Given the description of an element on the screen output the (x, y) to click on. 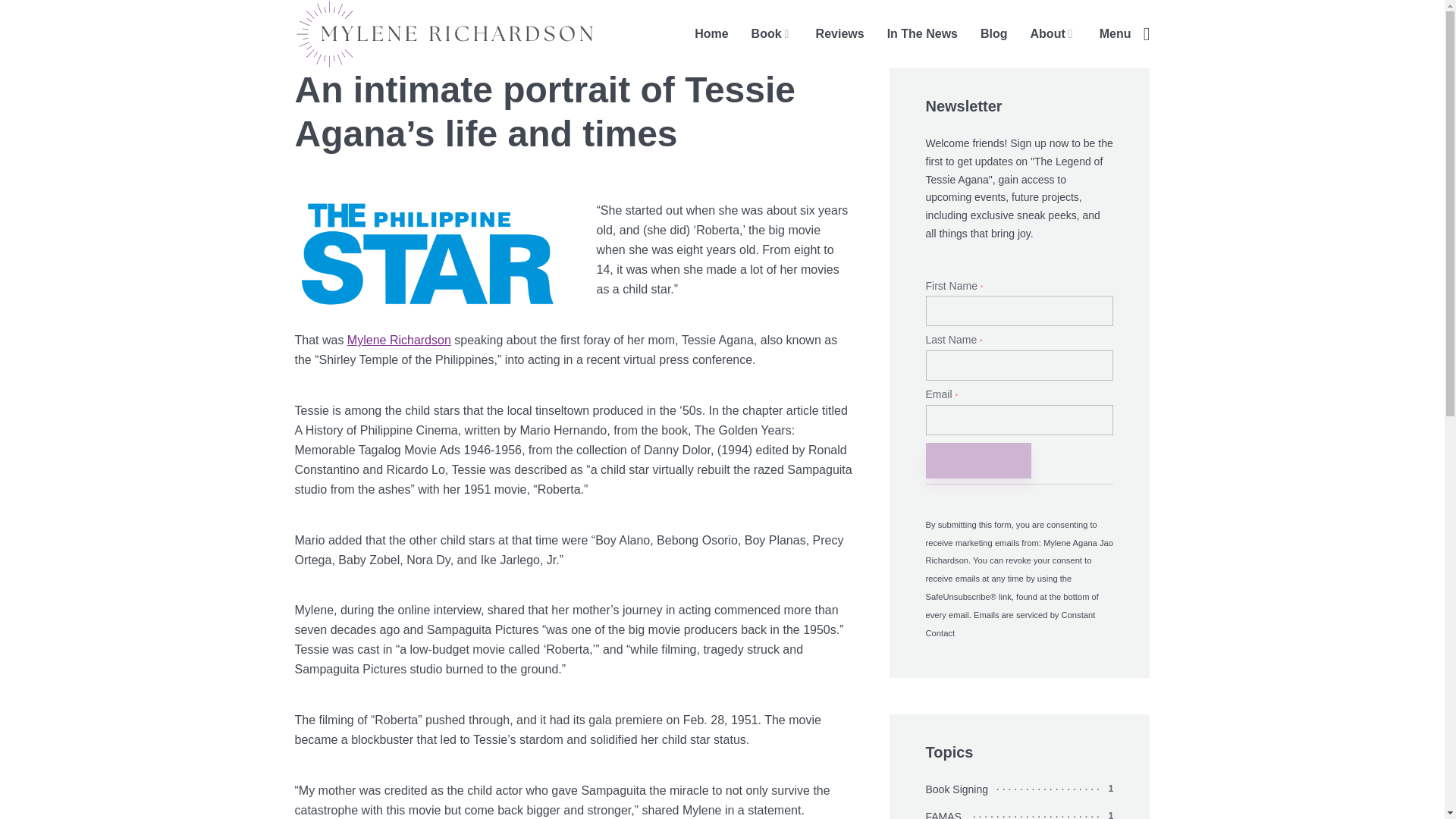
Subscribe (977, 460)
Reviews (839, 34)
Book Signing (959, 790)
Subscribe (977, 460)
Mylene Richardson (399, 339)
Menu (1124, 34)
In The News (922, 34)
About (1053, 34)
Emails are serviced by Constant Contact (1009, 624)
Book (772, 34)
FAMAS (946, 813)
